Given the description of an element on the screen output the (x, y) to click on. 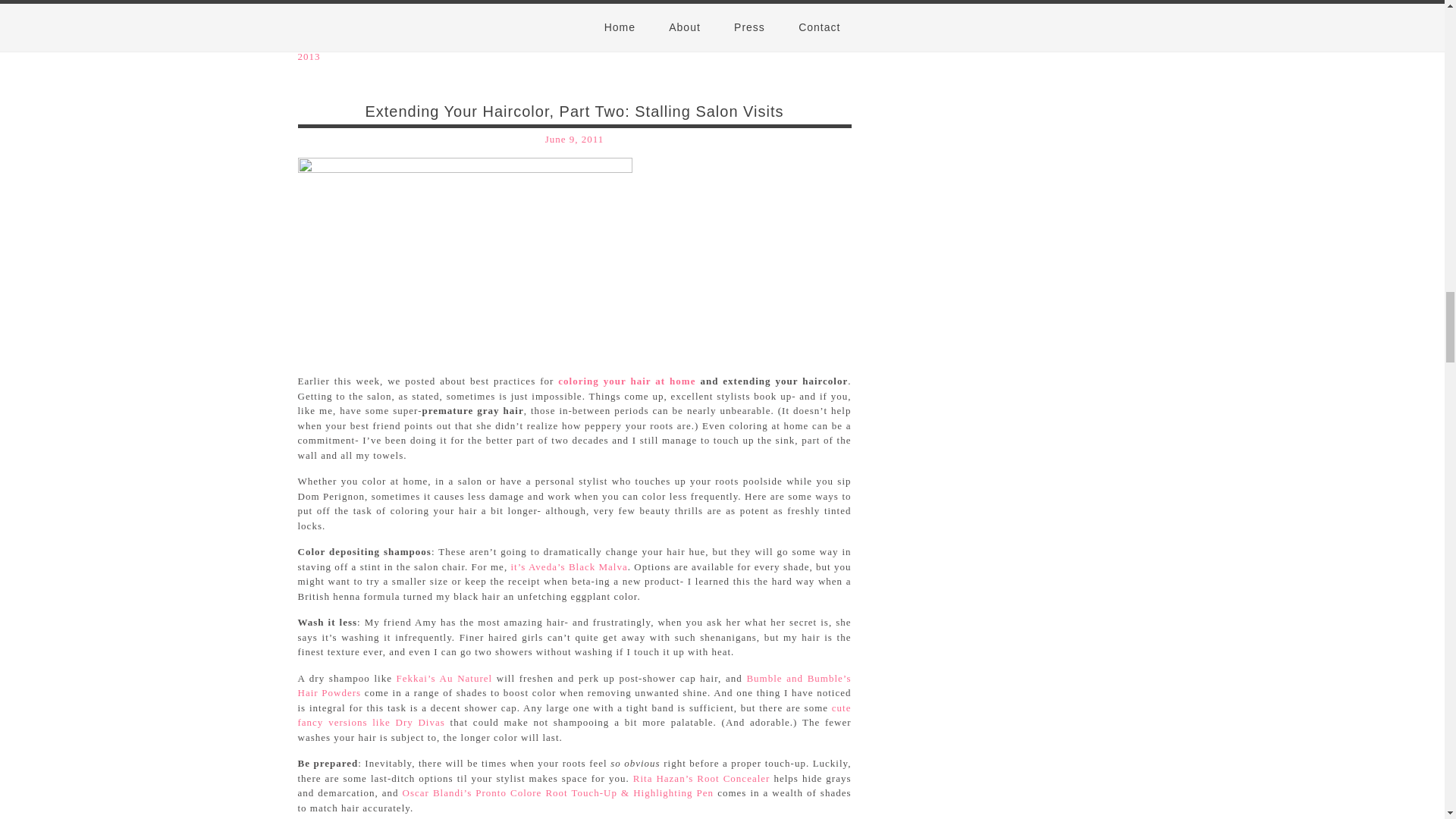
coloring your hair at home (626, 380)
braided updo (557, 41)
Christian Siriano (635, 41)
Extending Your Haircolor, Part Two: Stalling Salon Visits (574, 111)
Mercedes-Benz Fashion Week FW 2013 (568, 49)
Beauty (375, 41)
cute fancy versions like Dry Divas (573, 714)
inbetween hair color (464, 255)
Fashion (415, 41)
Aveda (507, 41)
Leave a Comment (338, 26)
